Given the description of an element on the screen output the (x, y) to click on. 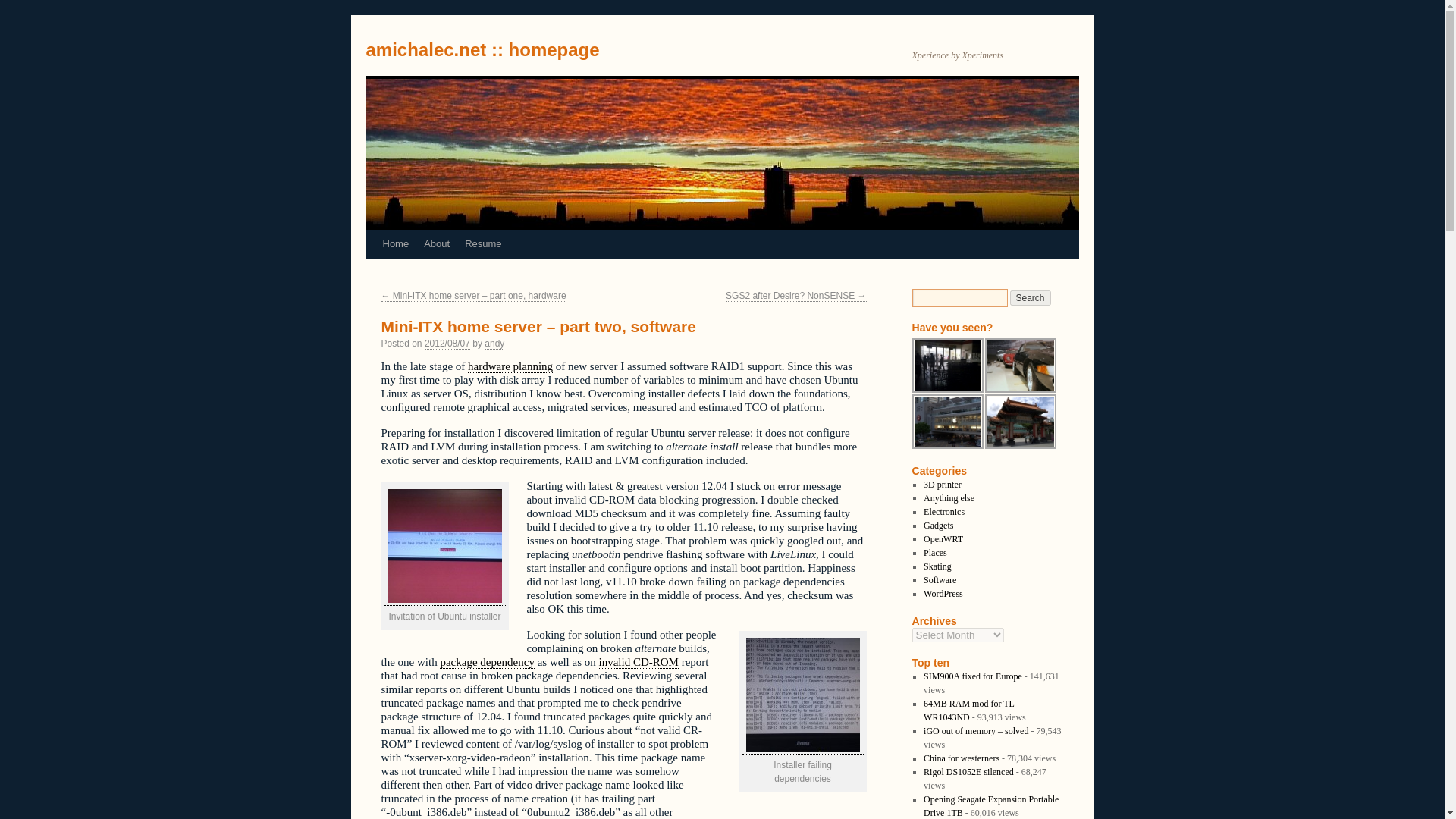
amichalec.net :: homepage (481, 49)
View all posts by andy (493, 343)
13:27 (447, 343)
Not valid Ubuntu CD-ROM (444, 599)
hardware planning (510, 366)
amichalec.net :: homepage (481, 49)
IMAG1120 (445, 545)
Home (395, 244)
package dependency (486, 662)
IMAG1127 (802, 694)
